Given the description of an element on the screen output the (x, y) to click on. 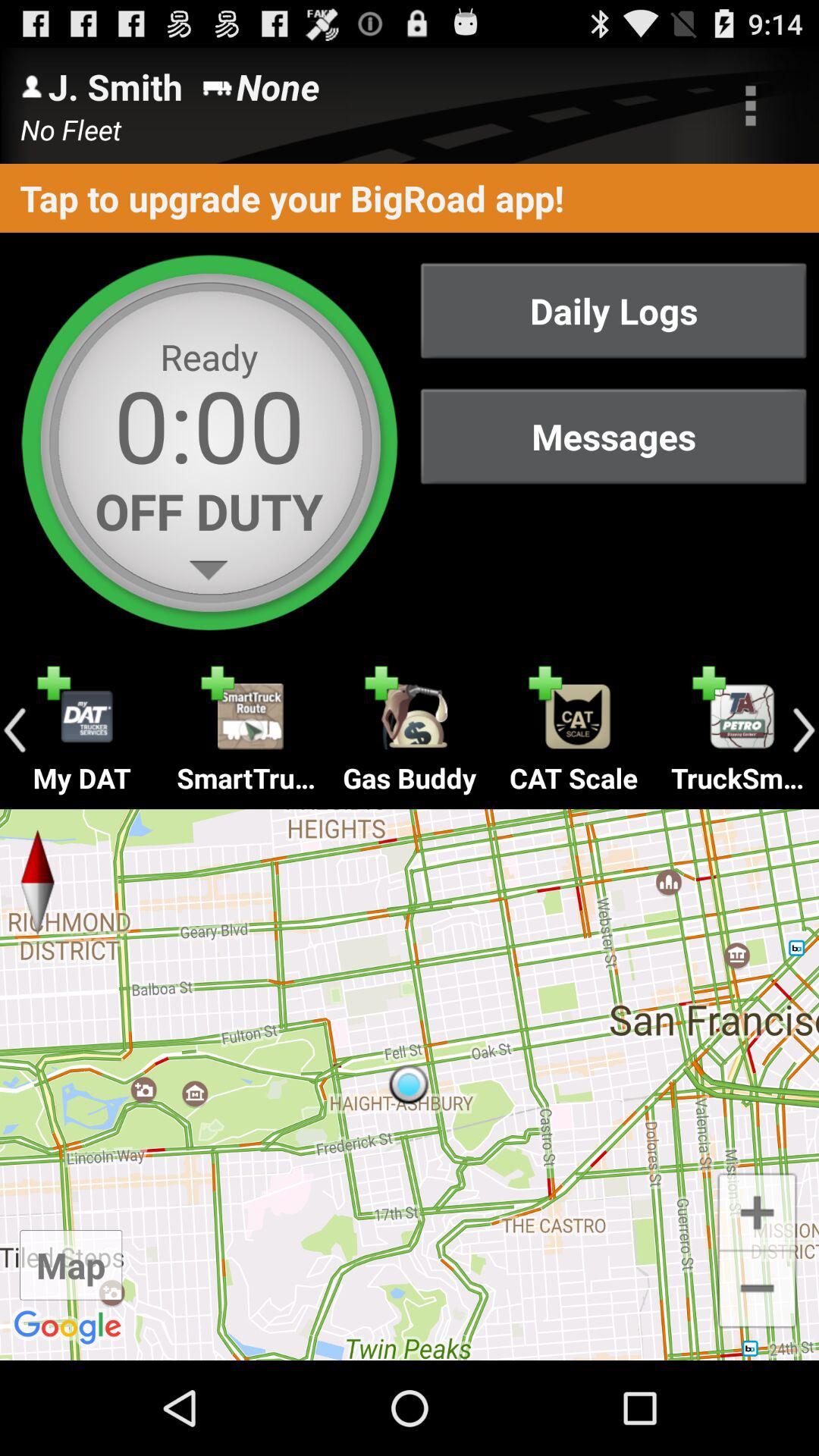
turn off the item next to none (750, 105)
